Given the description of an element on the screen output the (x, y) to click on. 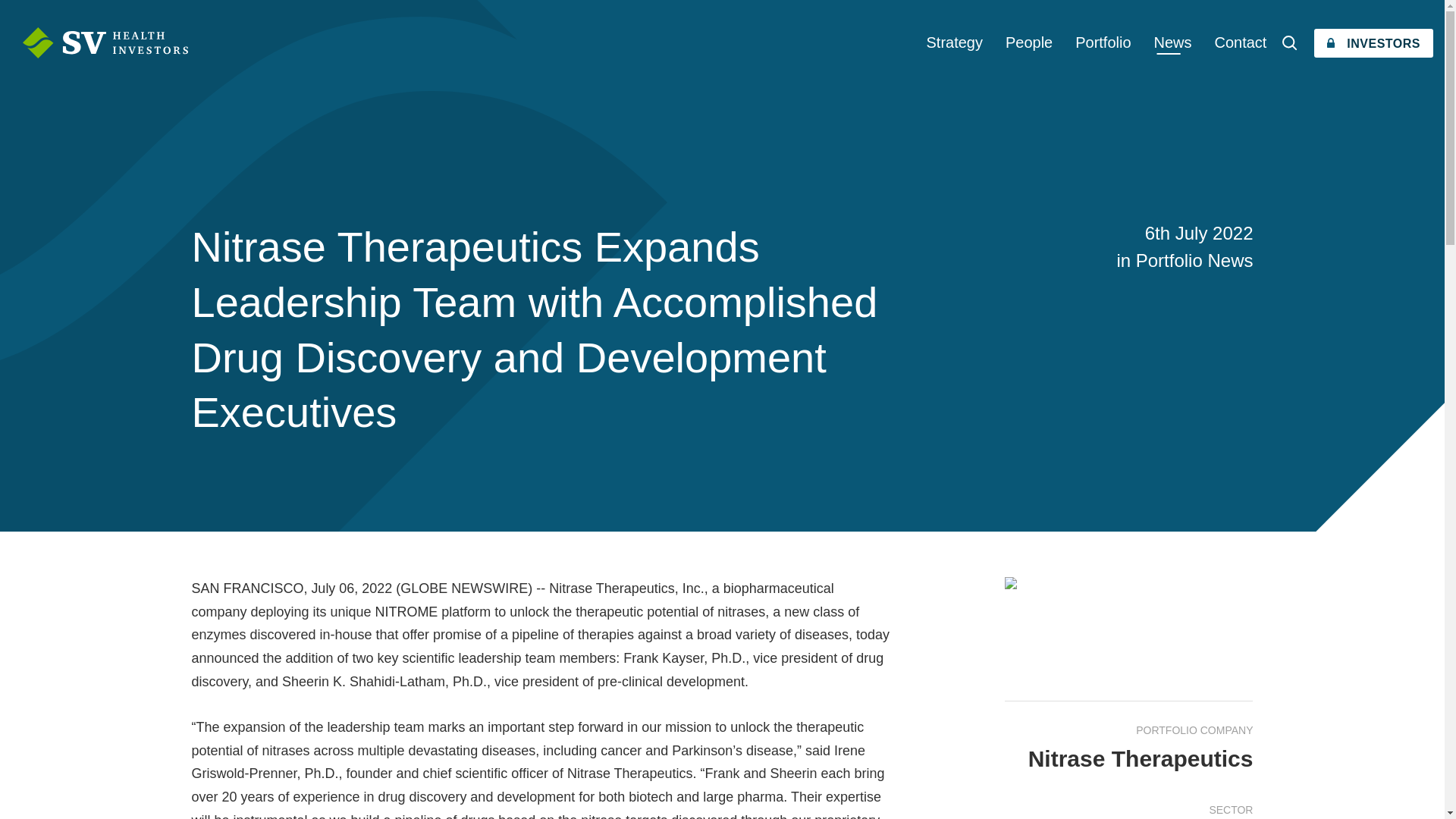
INVESTORS (1373, 42)
Contact (1240, 42)
Strategy (954, 42)
Nitrase Therapeutics (1140, 758)
SV Health Investors (105, 42)
People (1029, 42)
Portfolio (1102, 42)
News (1173, 42)
